Given the description of an element on the screen output the (x, y) to click on. 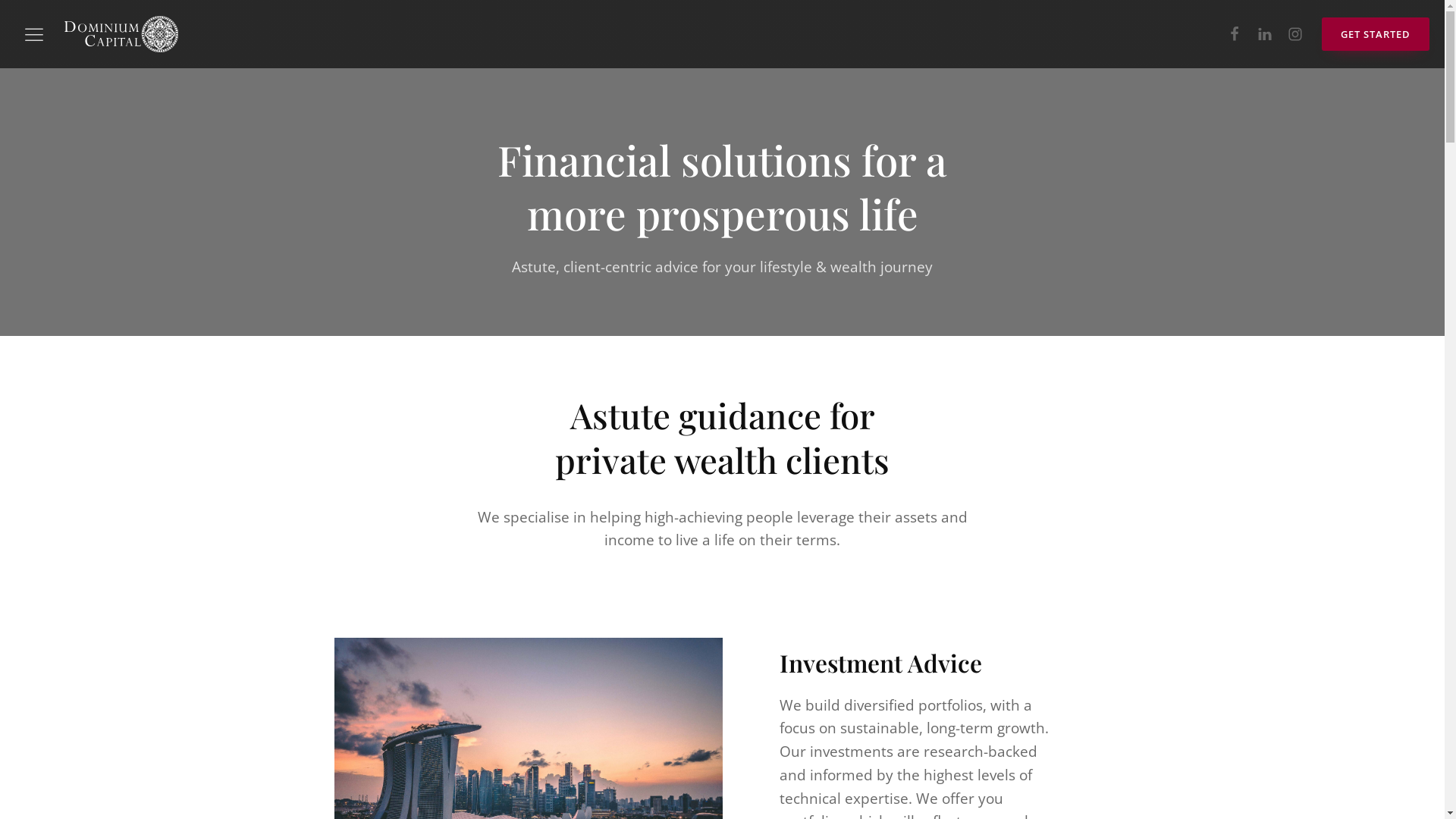
GET STARTED Element type: text (1375, 34)
